Given the description of an element on the screen output the (x, y) to click on. 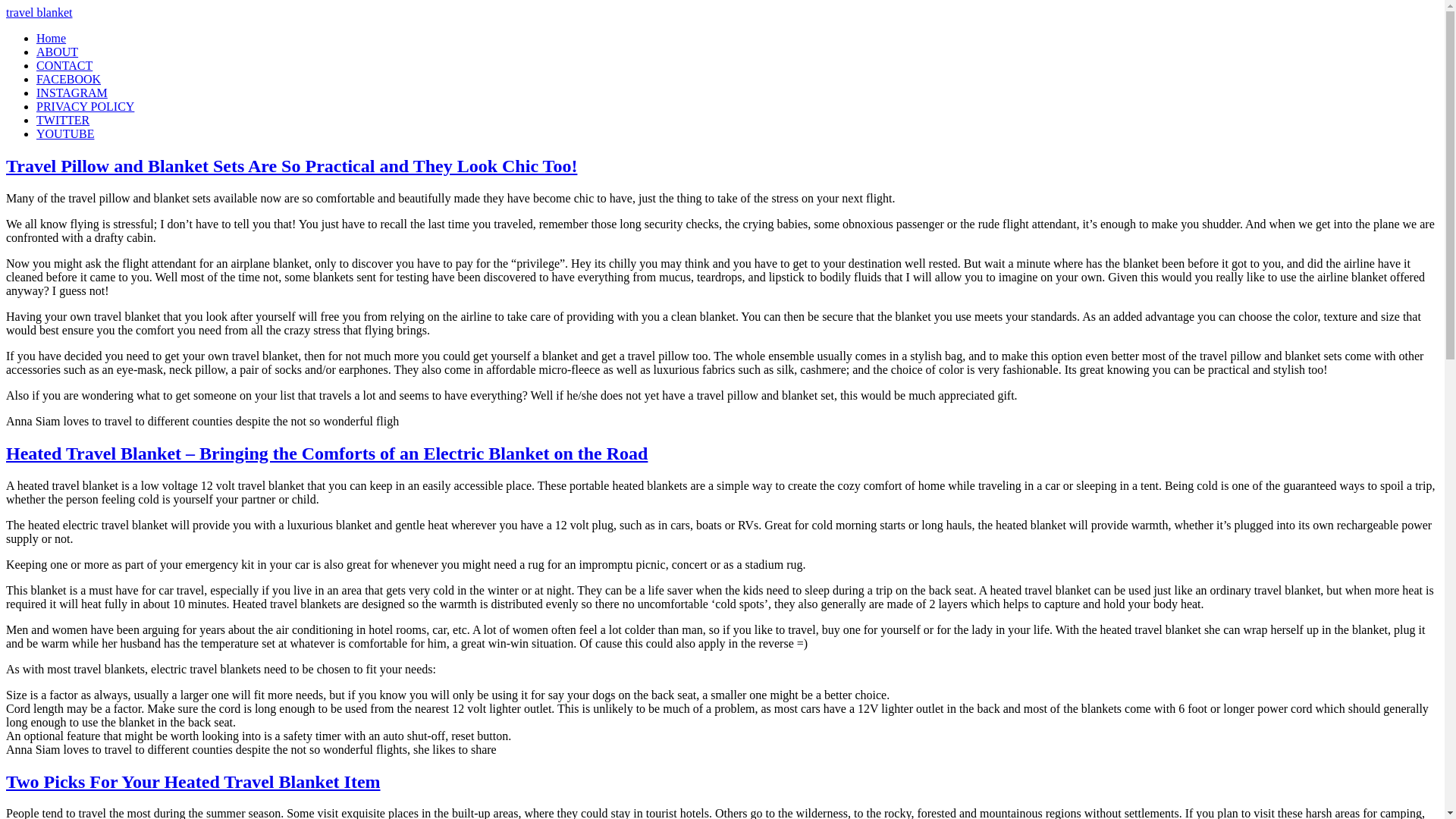
YOUTUBE (65, 133)
INSTAGRAM (71, 92)
CONTACT (64, 65)
PRIVACY POLICY (84, 106)
TWITTER (62, 119)
Two Picks For Your Heated Travel Blanket Item (192, 781)
INSTAGRAM (71, 92)
CONTACT (64, 65)
ABOUT (57, 51)
YOUTUBE (65, 133)
